Given the description of an element on the screen output the (x, y) to click on. 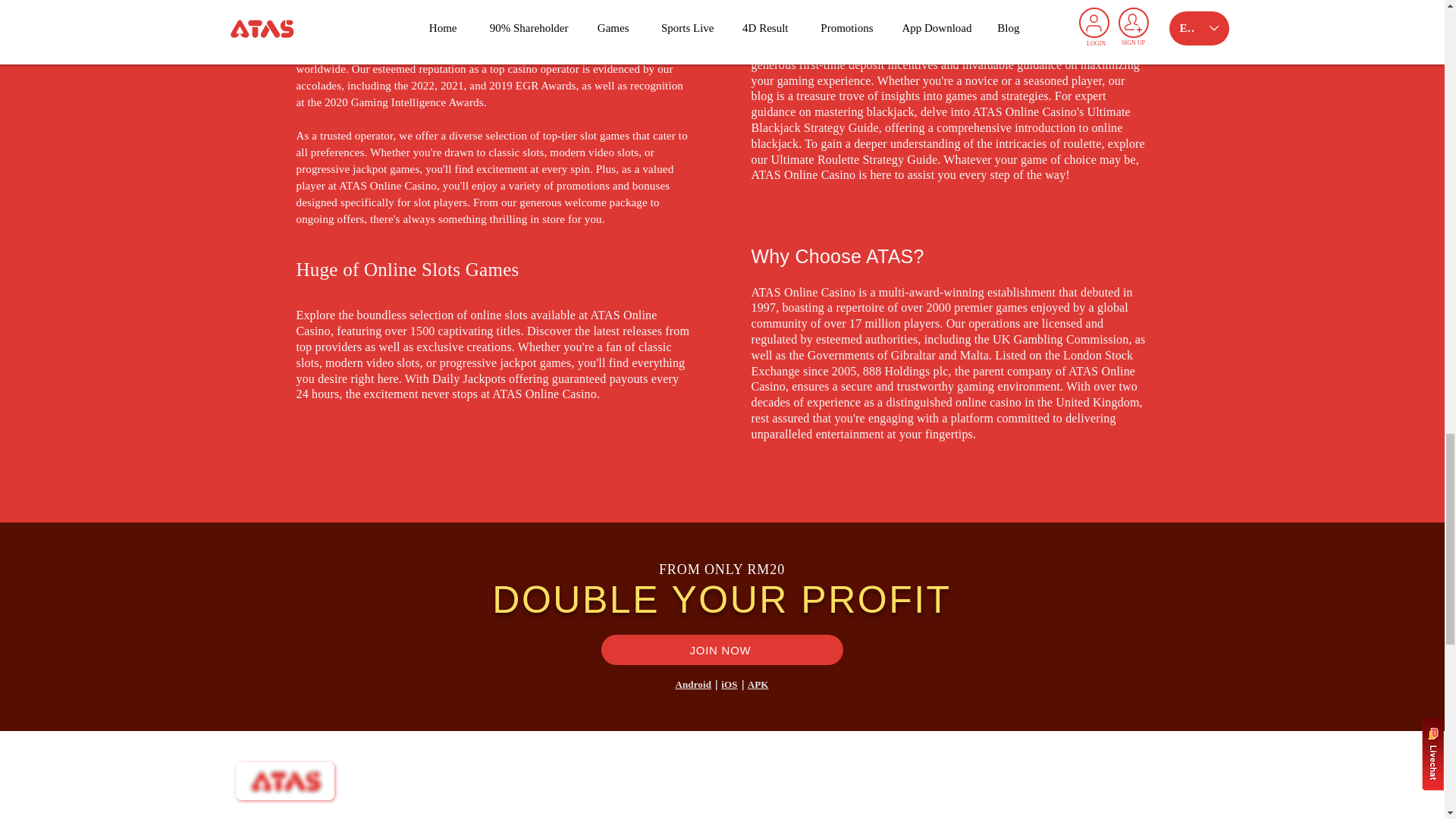
APK (758, 684)
Red Full.png (283, 781)
iOS (728, 684)
Android (693, 684)
JOIN NOW (721, 649)
